Given the description of an element on the screen output the (x, y) to click on. 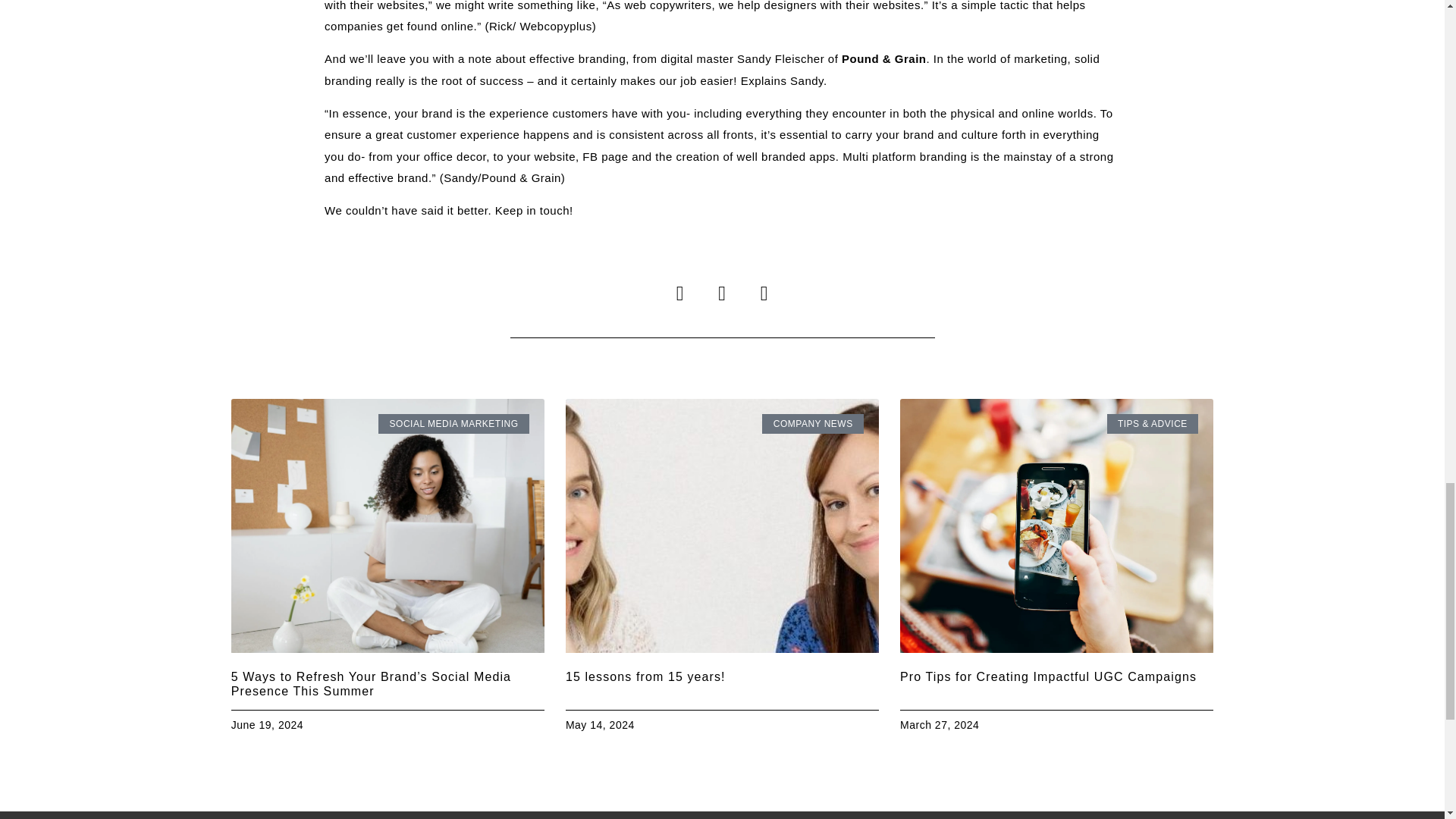
15 lessons from 15 years! (645, 676)
Pro Tips for Creating Impactful UGC Campaigns (1047, 676)
